Given the description of an element on the screen output the (x, y) to click on. 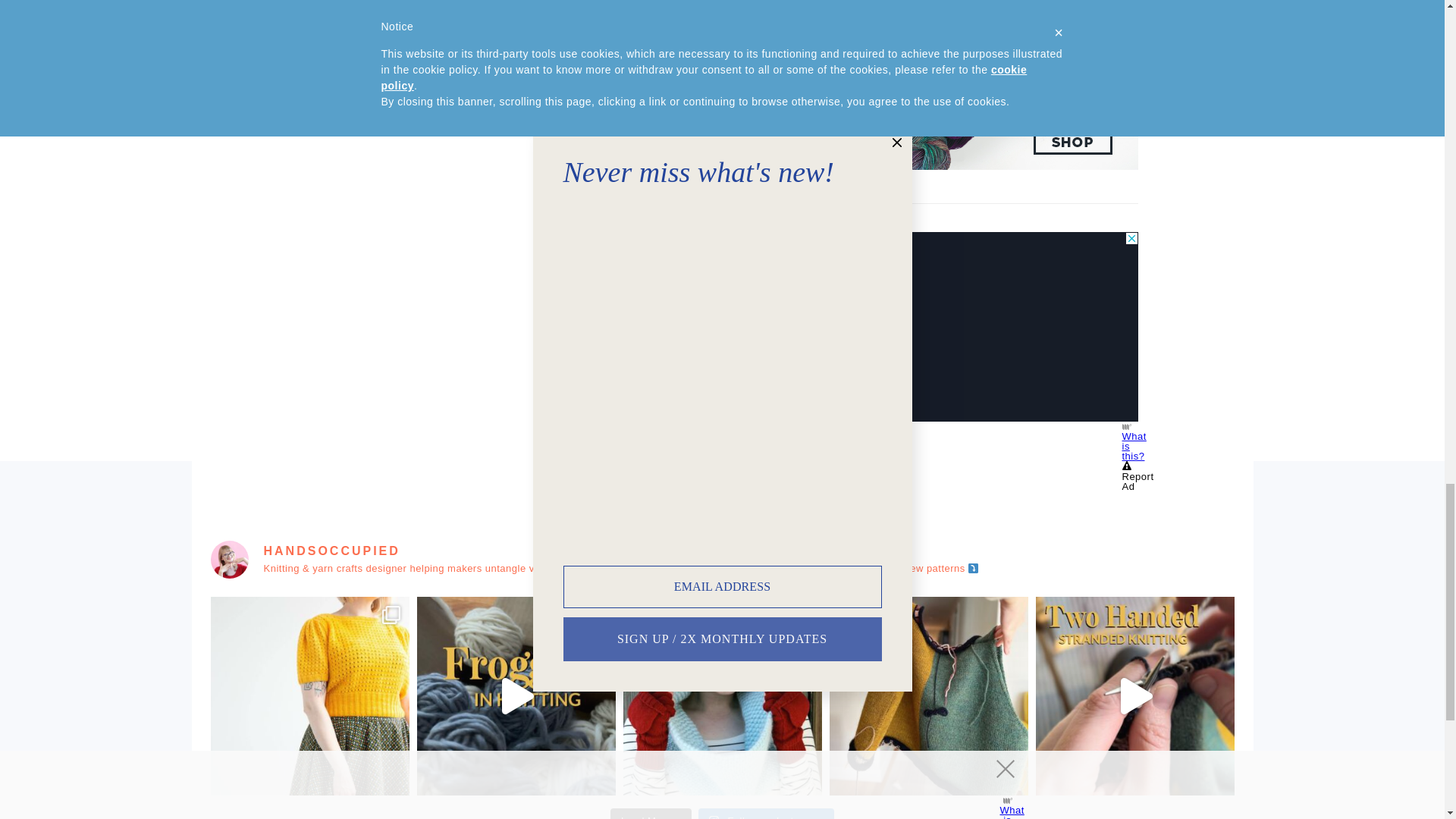
Load More... (650, 813)
3rd party ad content (1023, 326)
